Given the description of an element on the screen output the (x, y) to click on. 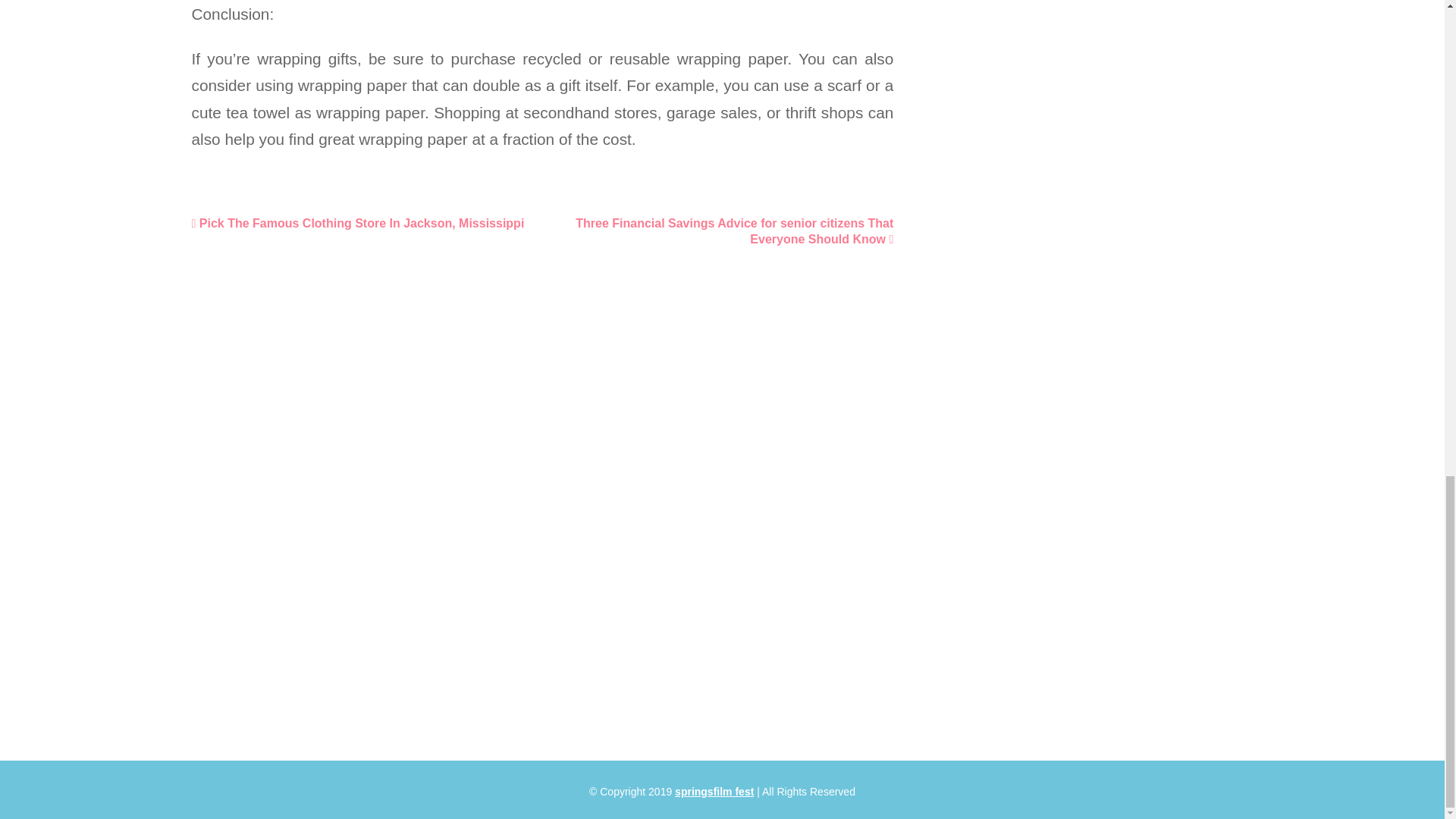
Pick The Famous Clothing Store In Jackson, Mississippi (357, 223)
